Given the description of an element on the screen output the (x, y) to click on. 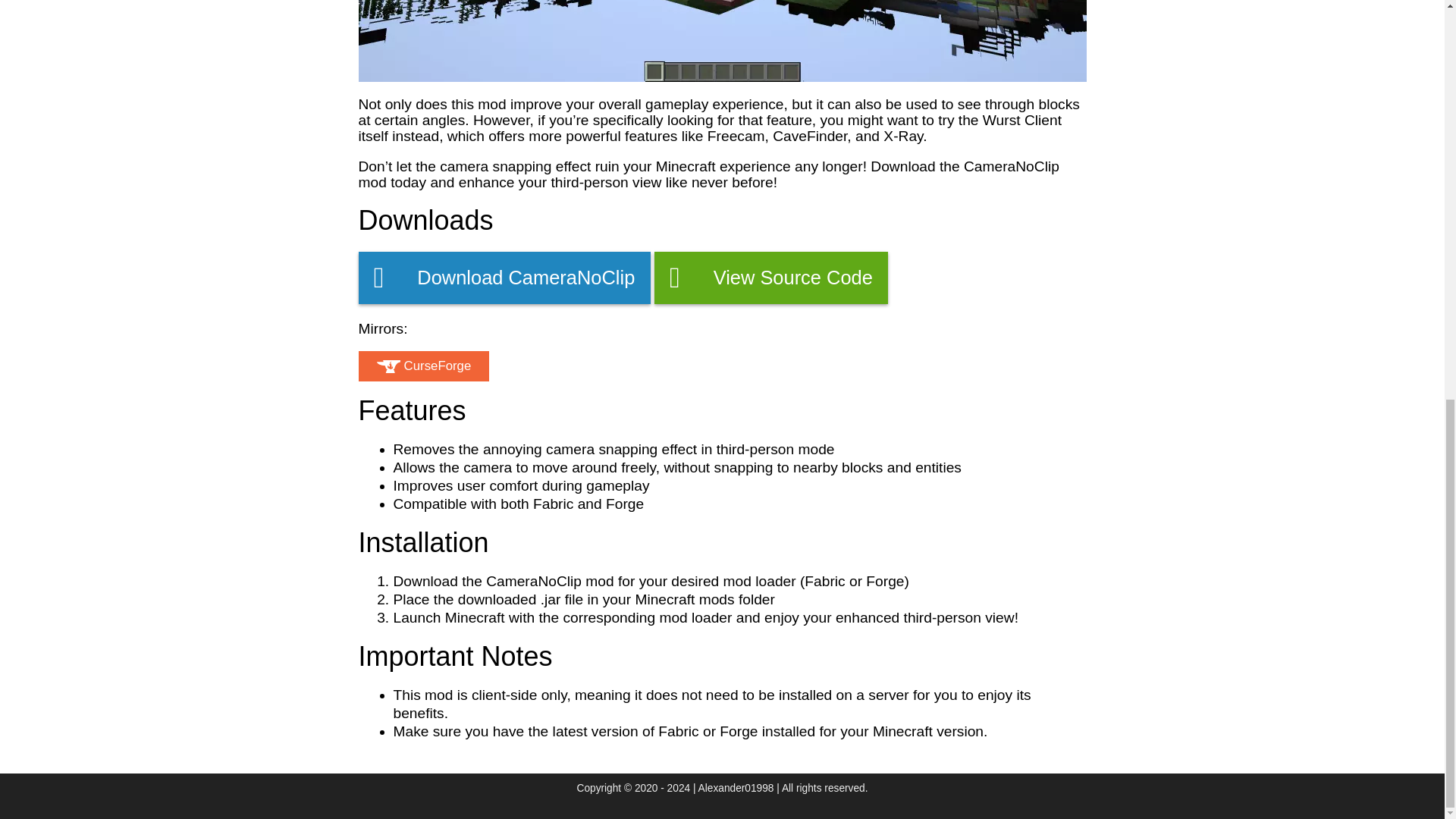
Download CameraNoClip (503, 277)
View Source Code (770, 277)
CurseForge (423, 366)
